Given the description of an element on the screen output the (x, y) to click on. 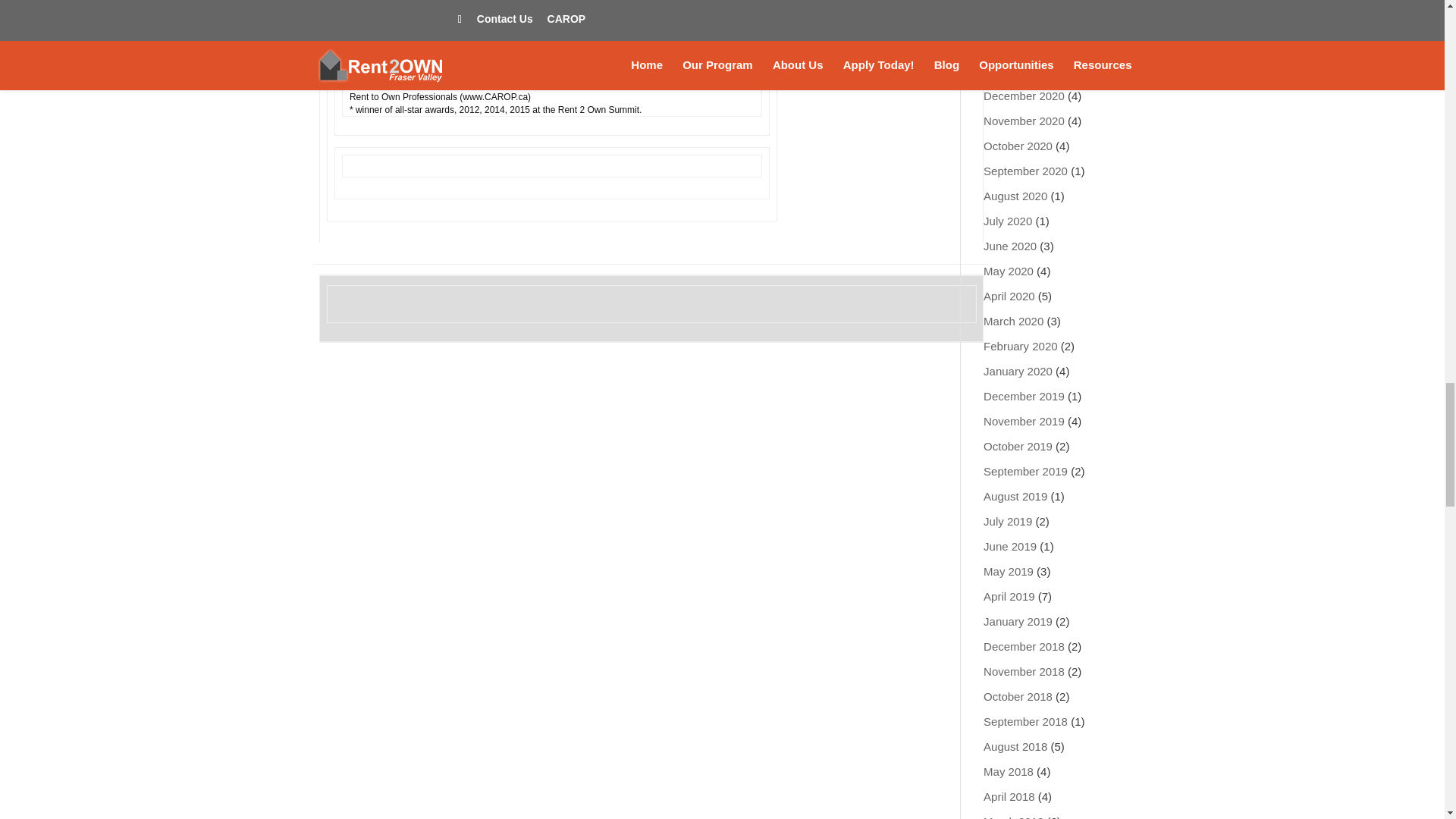
www.CAROP.ca (495, 96)
